Given the description of an element on the screen output the (x, y) to click on. 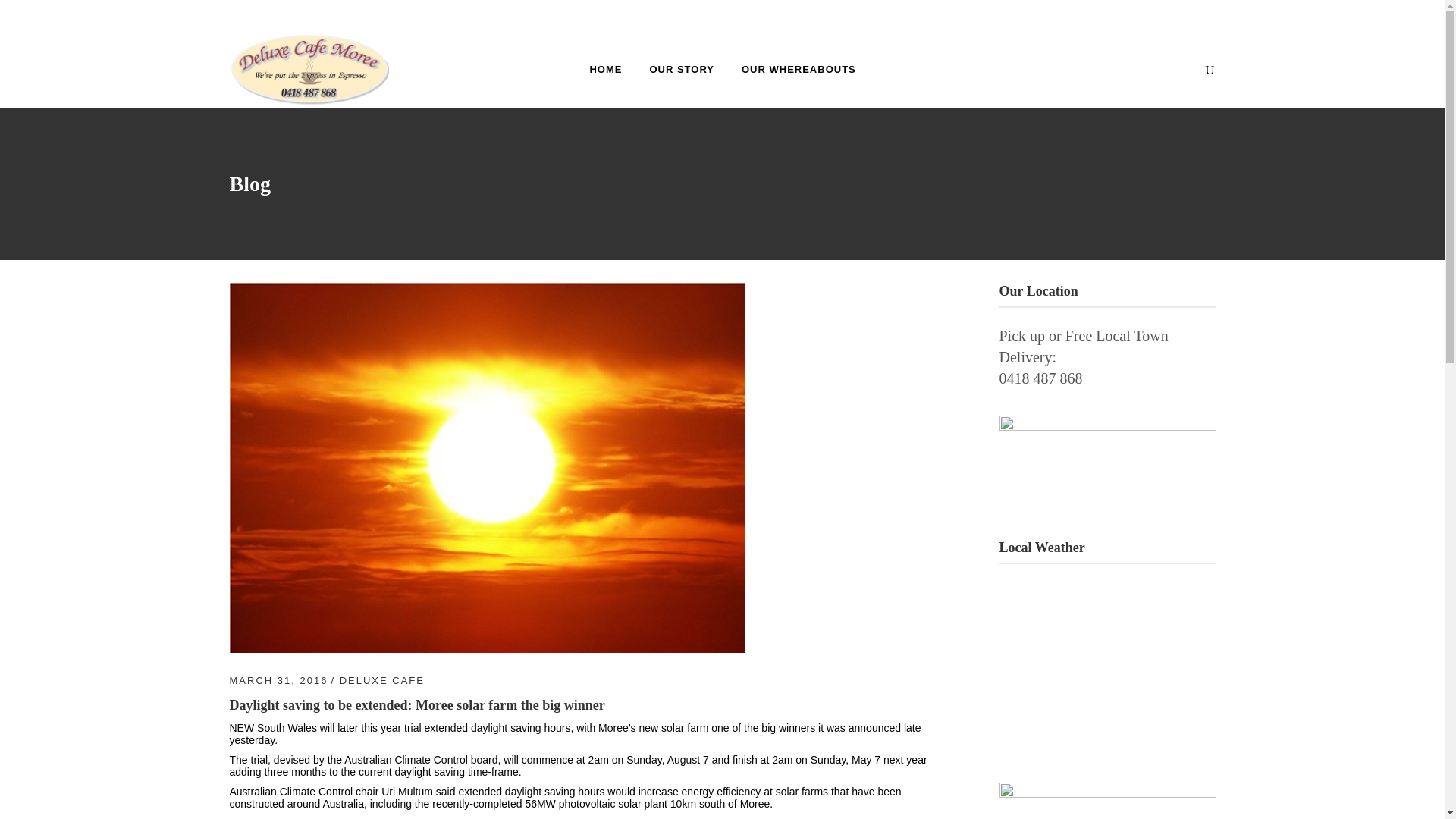
DELUXE CAFE (382, 680)
OUR WHEREABOUTS (798, 69)
U (983, 413)
OUR STORY (681, 69)
